Given the description of an element on the screen output the (x, y) to click on. 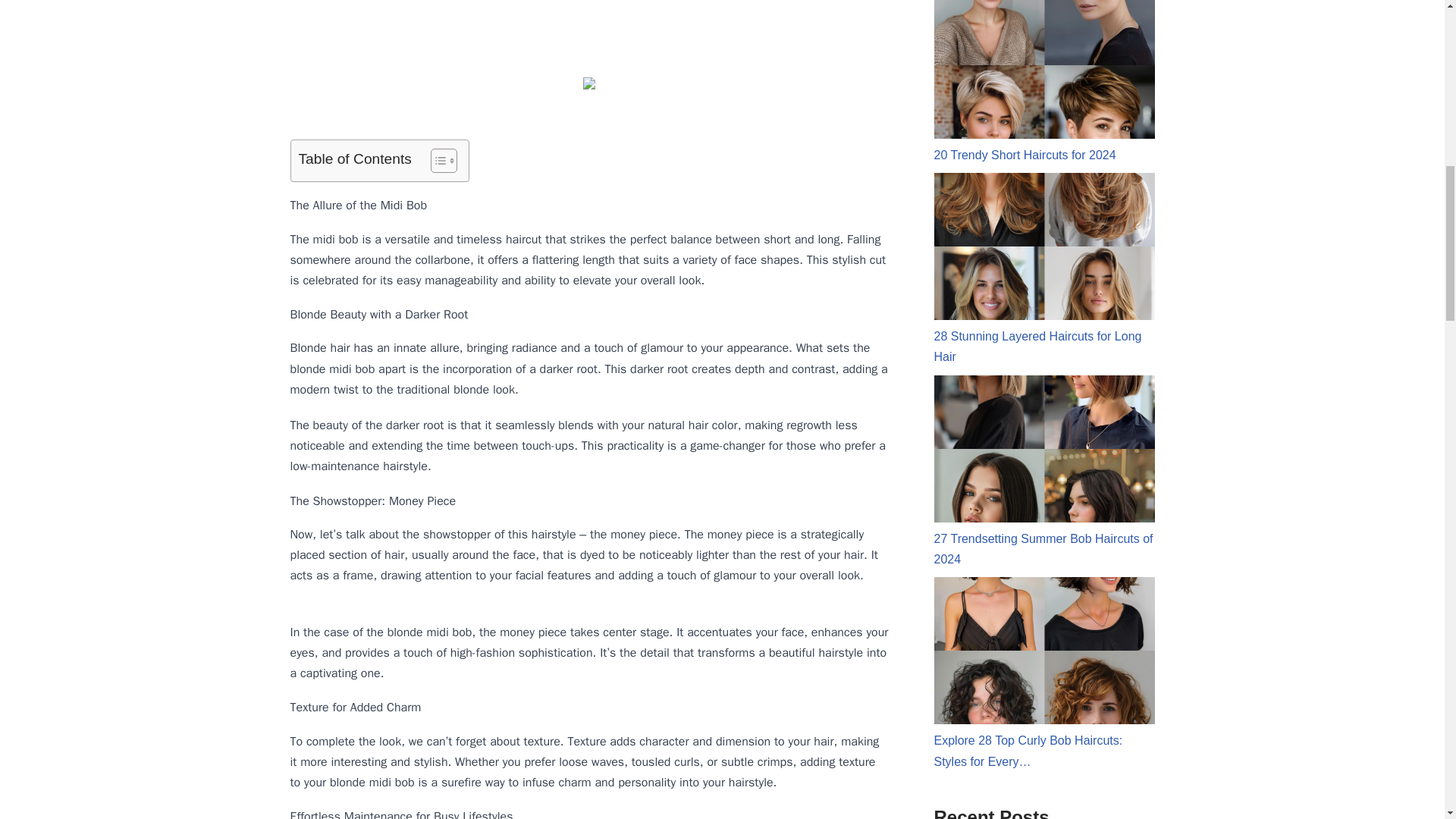
20 Trendy Short Haircuts for 2024 (1044, 80)
Advertisement (588, 34)
27 Trendsetting Summer Bob Haircuts of 2024 (1044, 470)
28 Stunning Layered Haircuts for Long Hair (1044, 267)
